Given the description of an element on the screen output the (x, y) to click on. 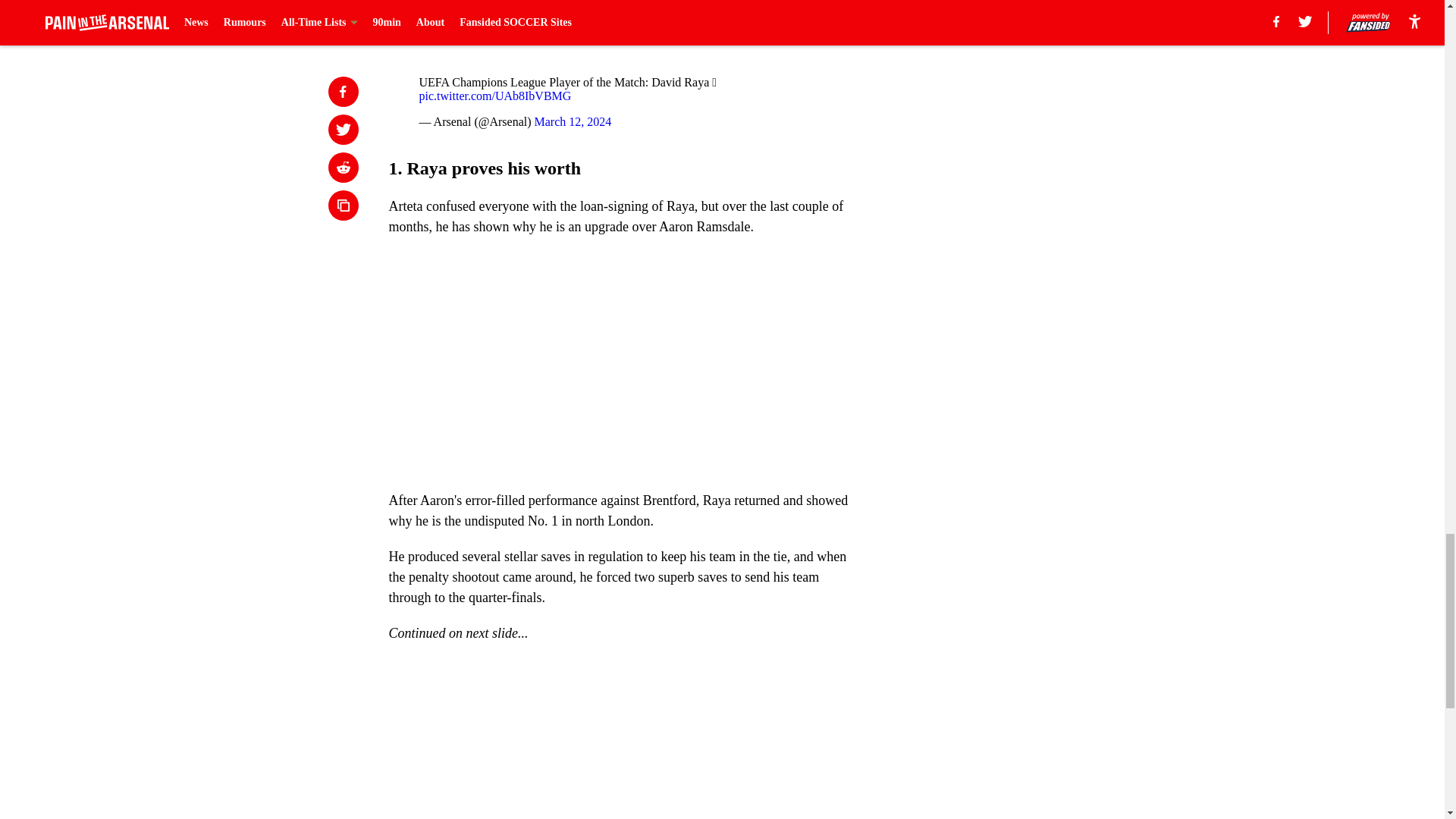
March 12, 2024 (572, 121)
